Given the description of an element on the screen output the (x, y) to click on. 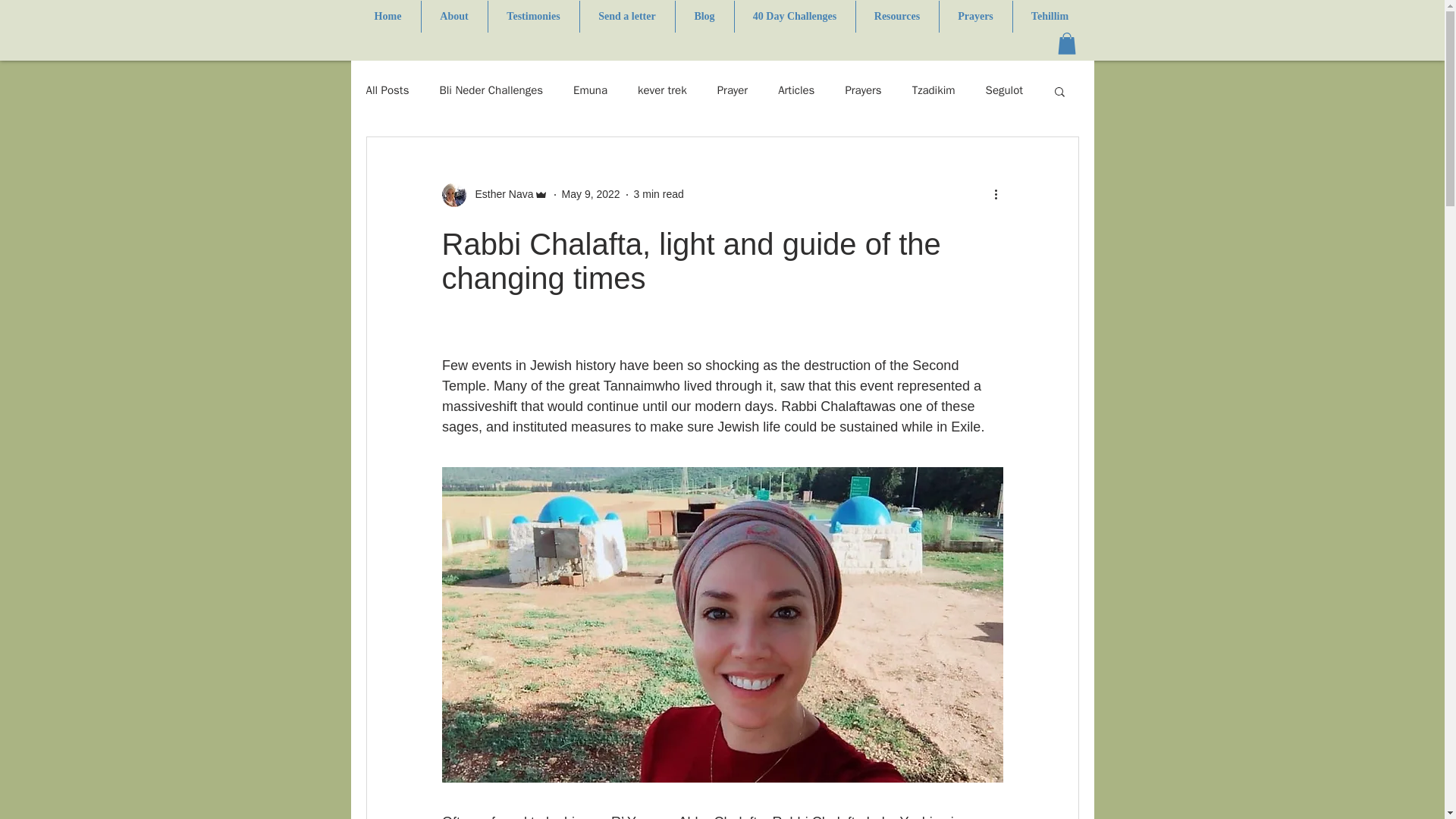
Resources (896, 16)
Esther Nava (498, 194)
3 min read (658, 193)
Blog (704, 16)
Testimonies (533, 16)
Send a letter (626, 16)
Prayers (975, 16)
May 9, 2022 (591, 193)
40 Day Challenges (793, 16)
Home (387, 16)
About (454, 16)
